Given the description of an element on the screen output the (x, y) to click on. 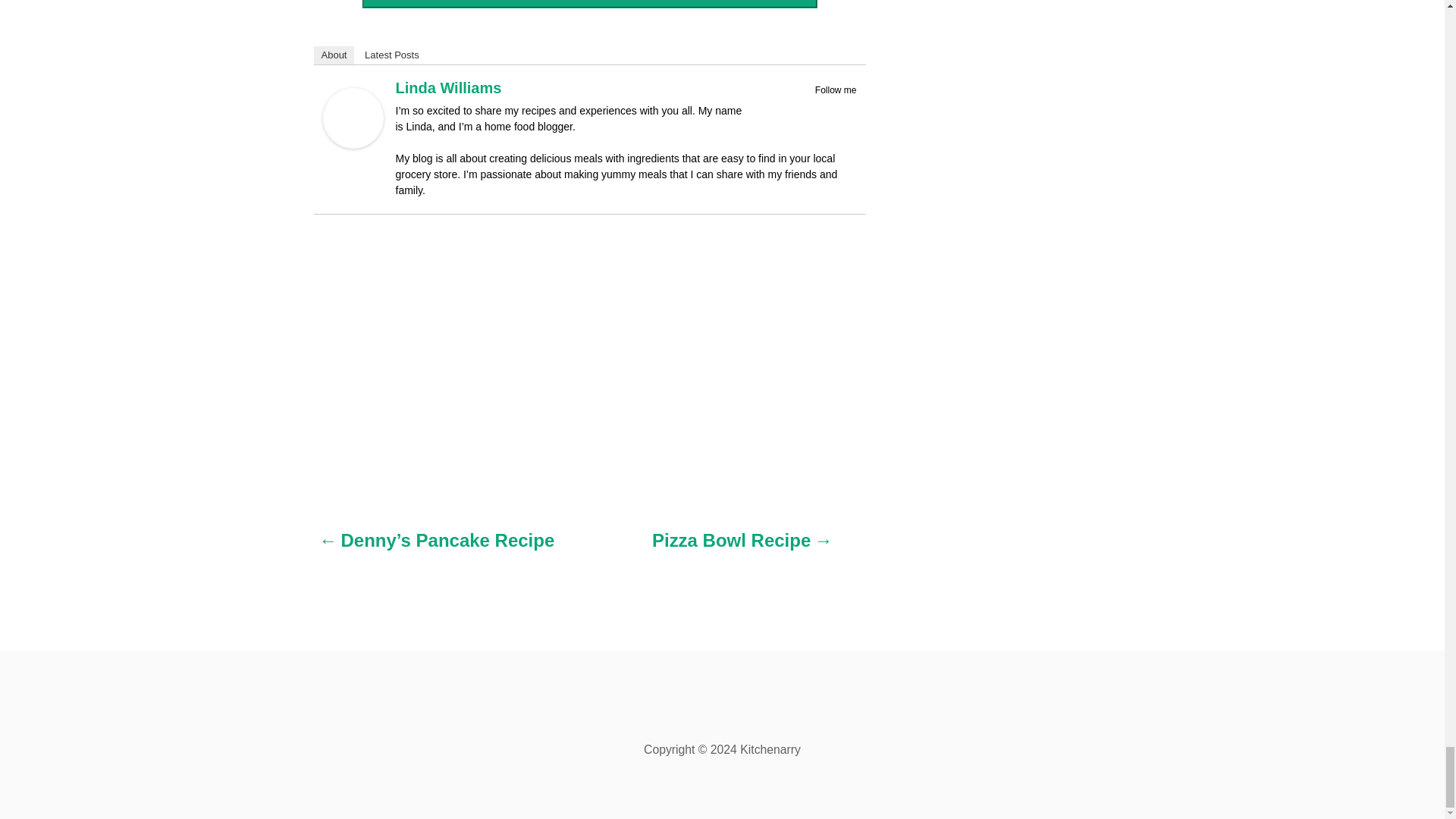
YouTube (846, 107)
Pinterest (825, 107)
Linda Williams (353, 143)
Facebook (806, 107)
